Given the description of an element on the screen output the (x, y) to click on. 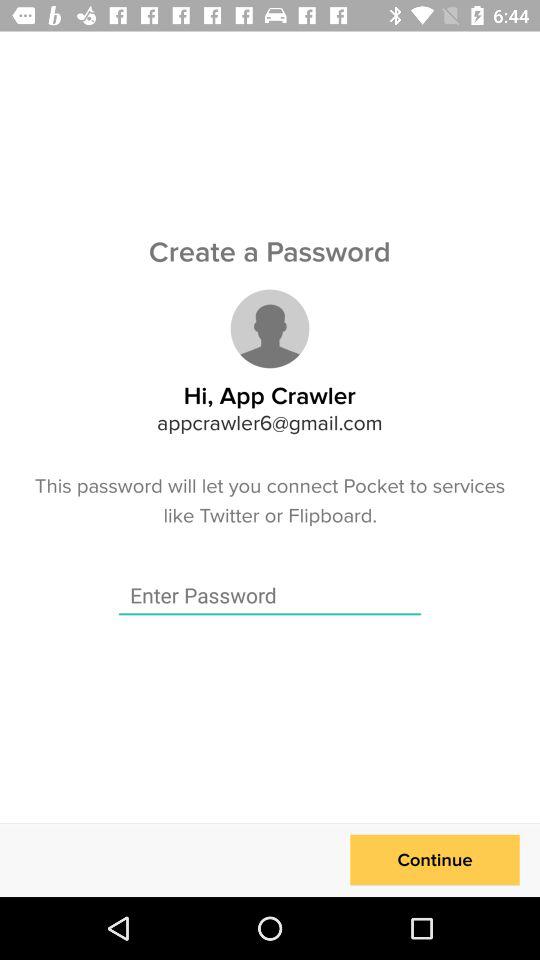
open continue item (434, 859)
